Given the description of an element on the screen output the (x, y) to click on. 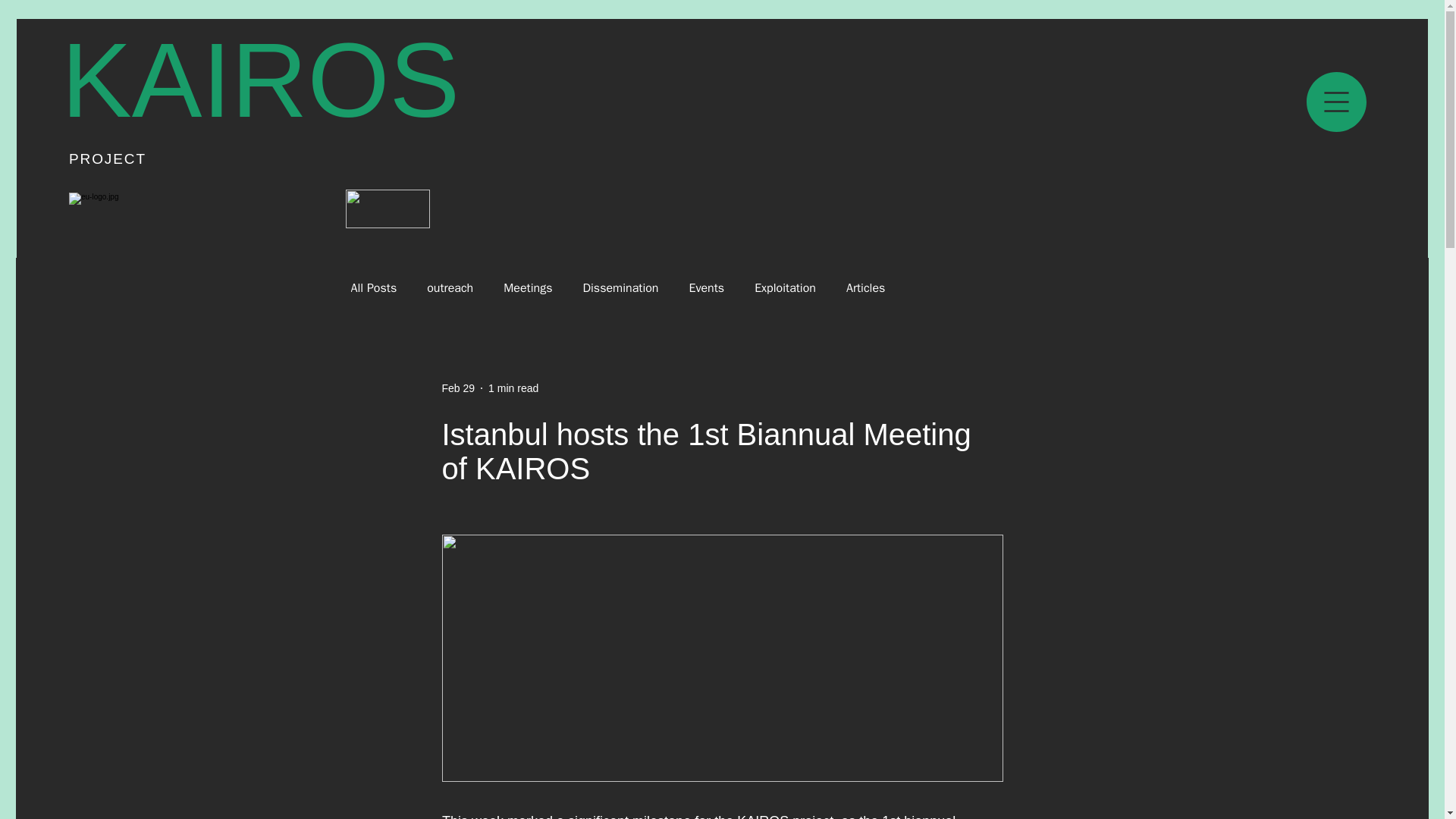
Feb 29 (457, 387)
Articles (865, 288)
1 min read (512, 387)
Exploitation (784, 288)
Events (705, 288)
outreach (449, 288)
Meetings (527, 288)
Dissemination (620, 288)
KAIROS (260, 79)
All Posts (373, 288)
